Given the description of an element on the screen output the (x, y) to click on. 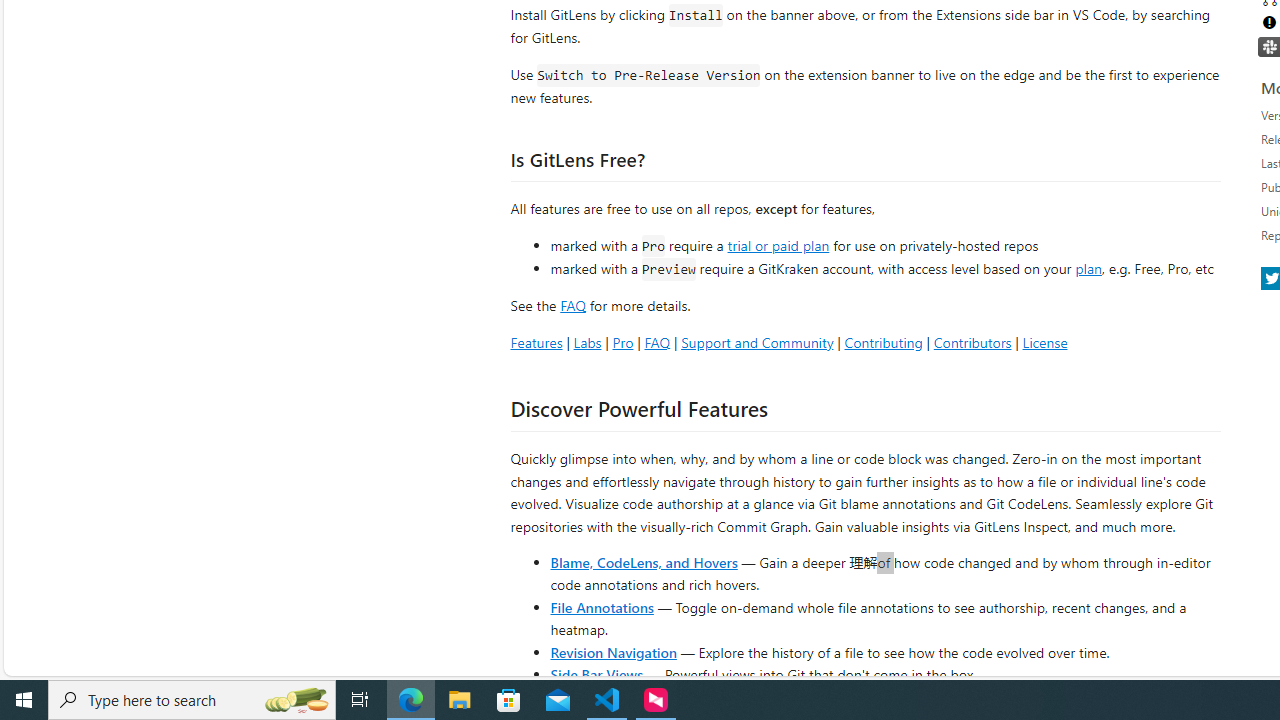
Revision Navigation (613, 651)
File Annotations (602, 606)
Side Bar Views (596, 673)
Contributing (882, 341)
Contributors (972, 341)
FAQ (656, 341)
Support and Community (757, 341)
License (1044, 341)
Blame, CodeLens, and Hovers (644, 561)
plan (1088, 269)
